Given the description of an element on the screen output the (x, y) to click on. 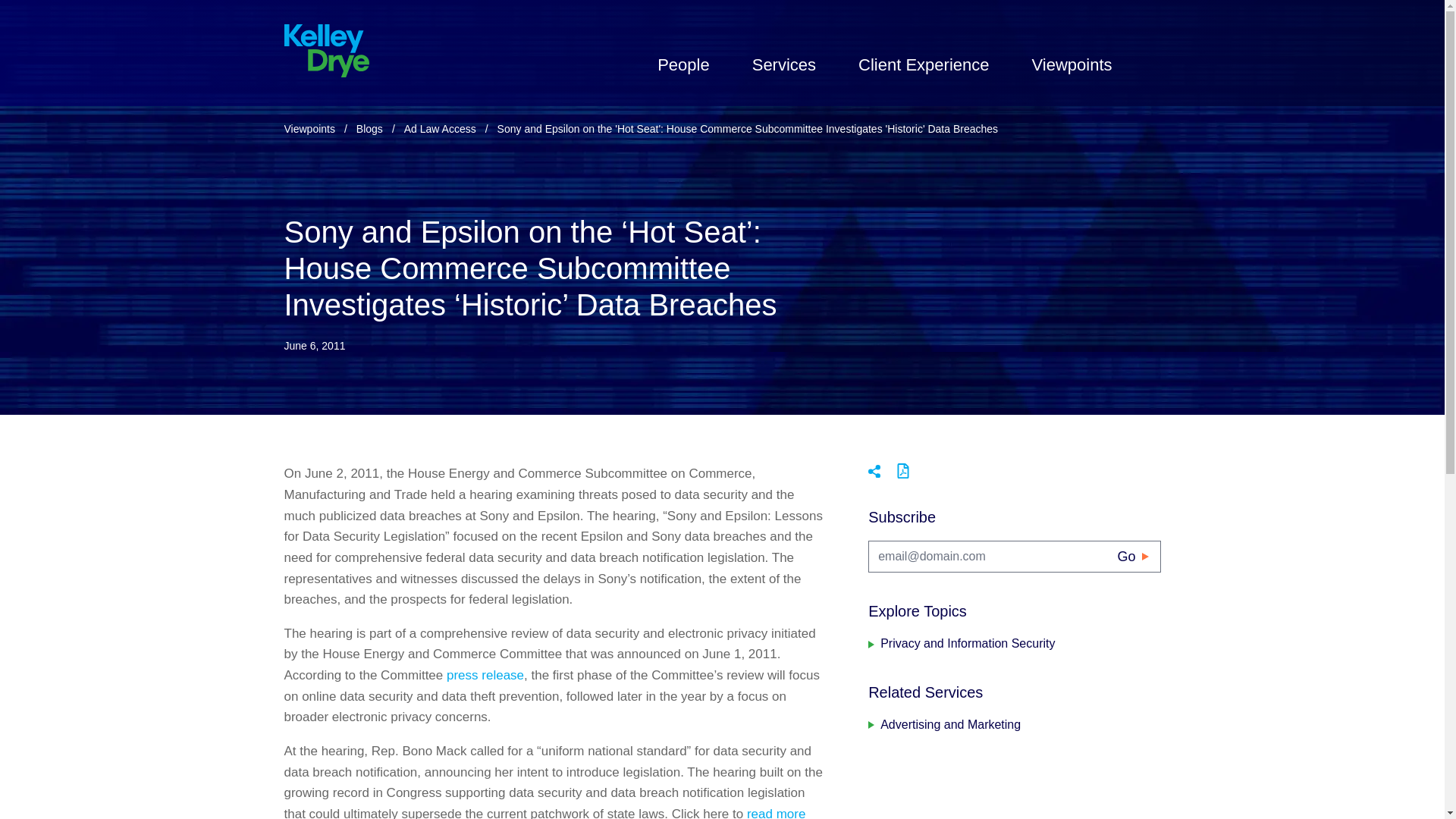
People (684, 64)
Services (783, 64)
